Given the description of an element on the screen output the (x, y) to click on. 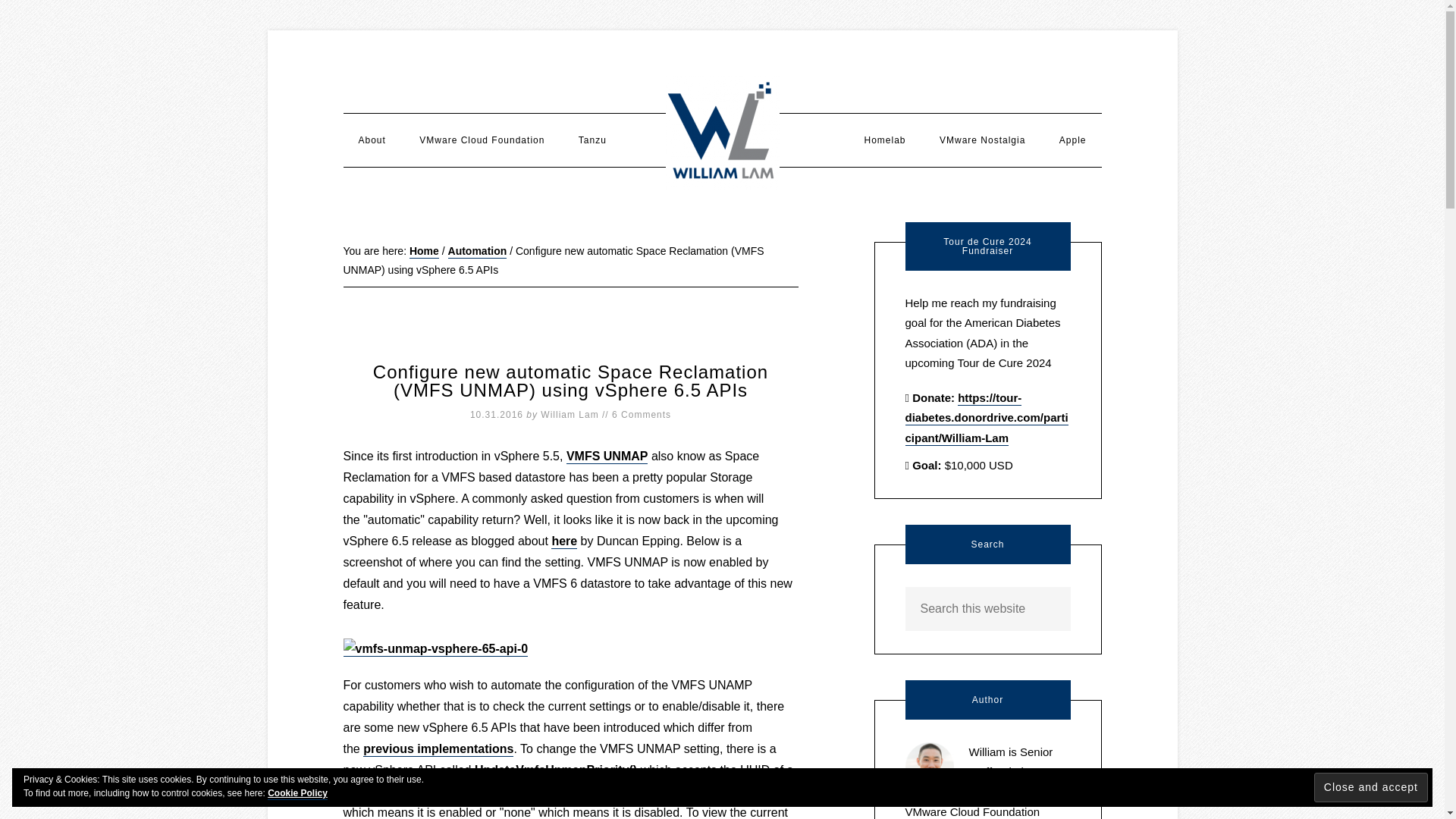
here (563, 541)
6 Comments (641, 414)
previous implementations (437, 749)
Automation (477, 251)
Home (424, 251)
VMware Cloud Foundation (481, 140)
About (371, 140)
VMware Nostalgia (982, 140)
Apple (1072, 140)
